Given the description of an element on the screen output the (x, y) to click on. 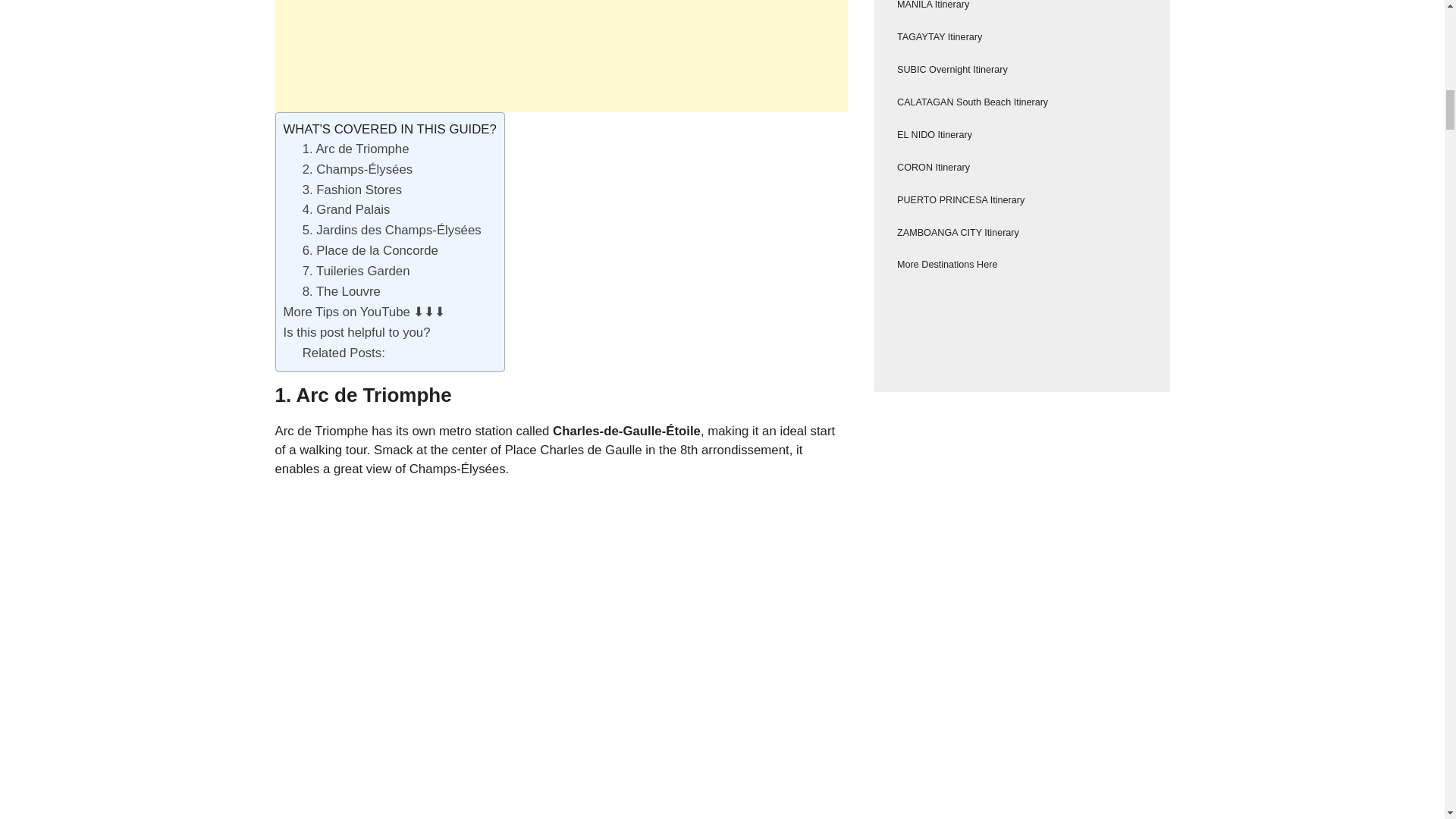
8. The Louvre (341, 291)
7. Tuileries Garden (356, 270)
3. Fashion Stores (352, 188)
4. Grand Palais (346, 209)
Related Posts: (343, 352)
Is this post helpful to you?  (356, 332)
6. Place de la Concorde (370, 250)
1. Arc de Triomphe (355, 148)
